Given the description of an element on the screen output the (x, y) to click on. 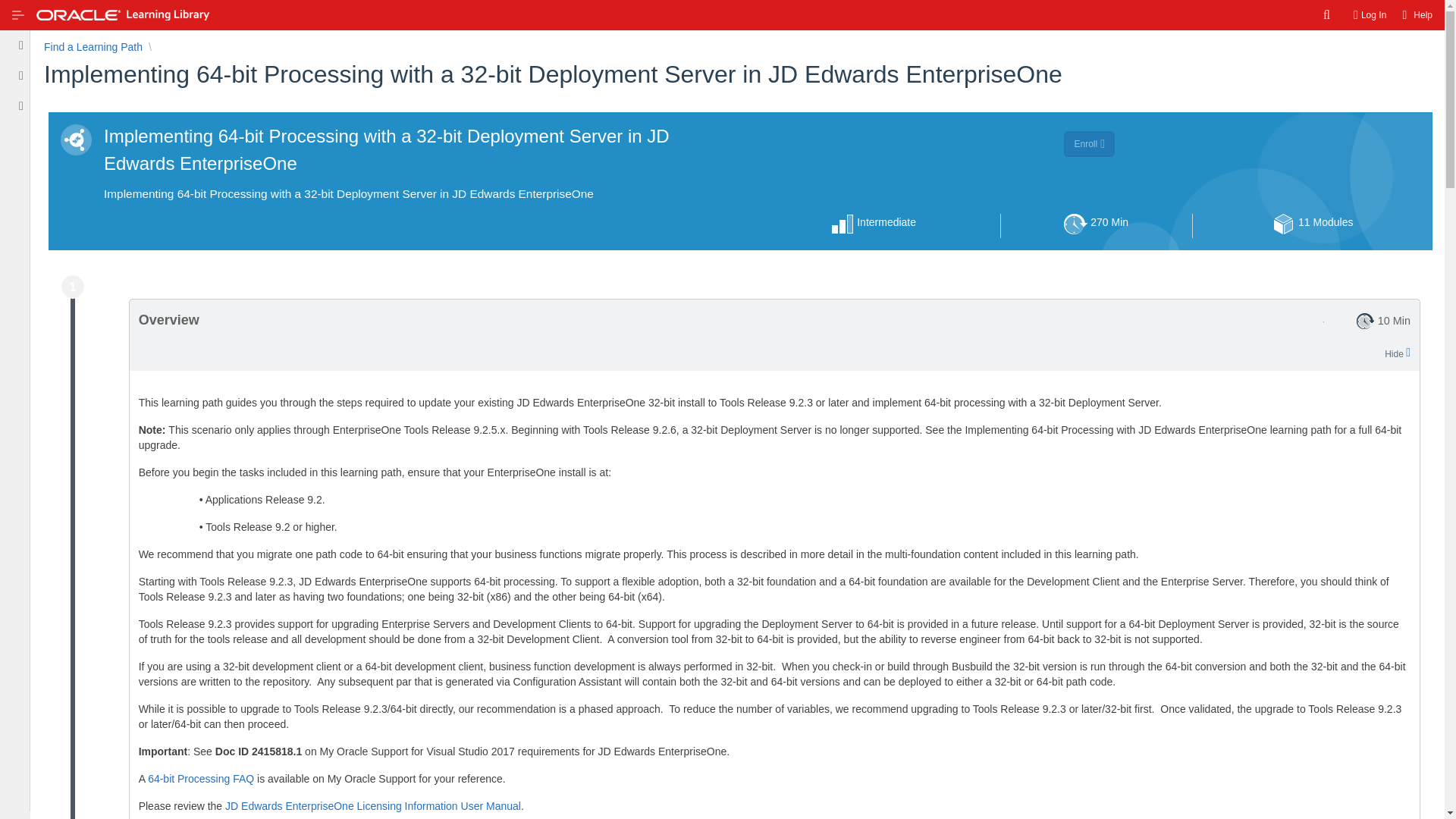
Help (1414, 15)
Enroll (1089, 144)
Search OLL Content (1326, 15)
64-bit Processing FAQ (200, 778)
Enroll (1088, 225)
Find a Learning Path (1088, 144)
JD Edwards EnterpriseOne Licensing Information User Manual (92, 46)
Log In (371, 806)
